Given the description of an element on the screen output the (x, y) to click on. 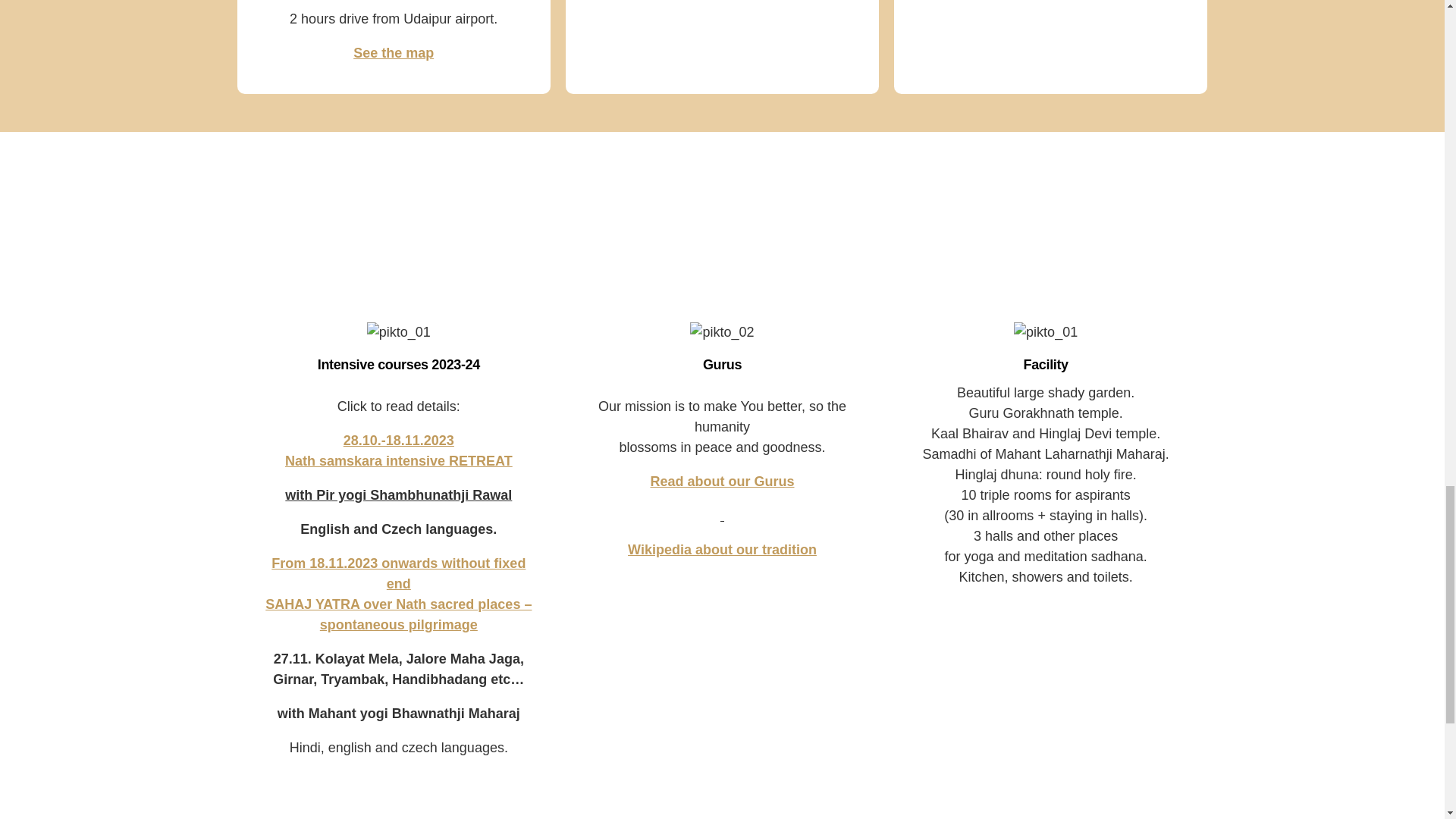
Read about our Gurus (398, 450)
Intensive courses 2023-24 (721, 481)
See the map (398, 364)
